Given the description of an element on the screen output the (x, y) to click on. 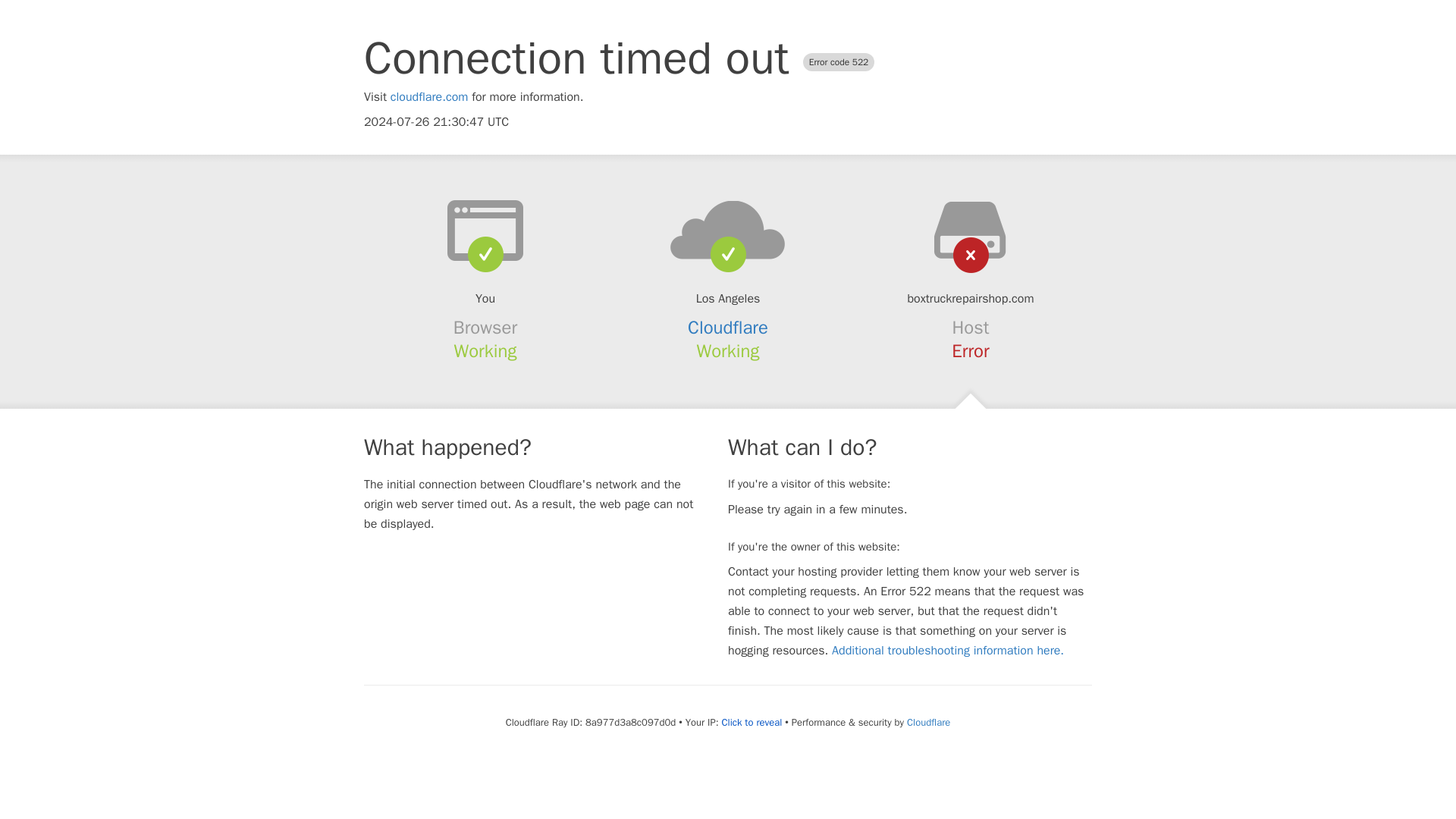
cloudflare.com (429, 96)
Cloudflare (928, 721)
Additional troubleshooting information here. (947, 650)
Click to reveal (750, 722)
Cloudflare (727, 327)
